Given the description of an element on the screen output the (x, y) to click on. 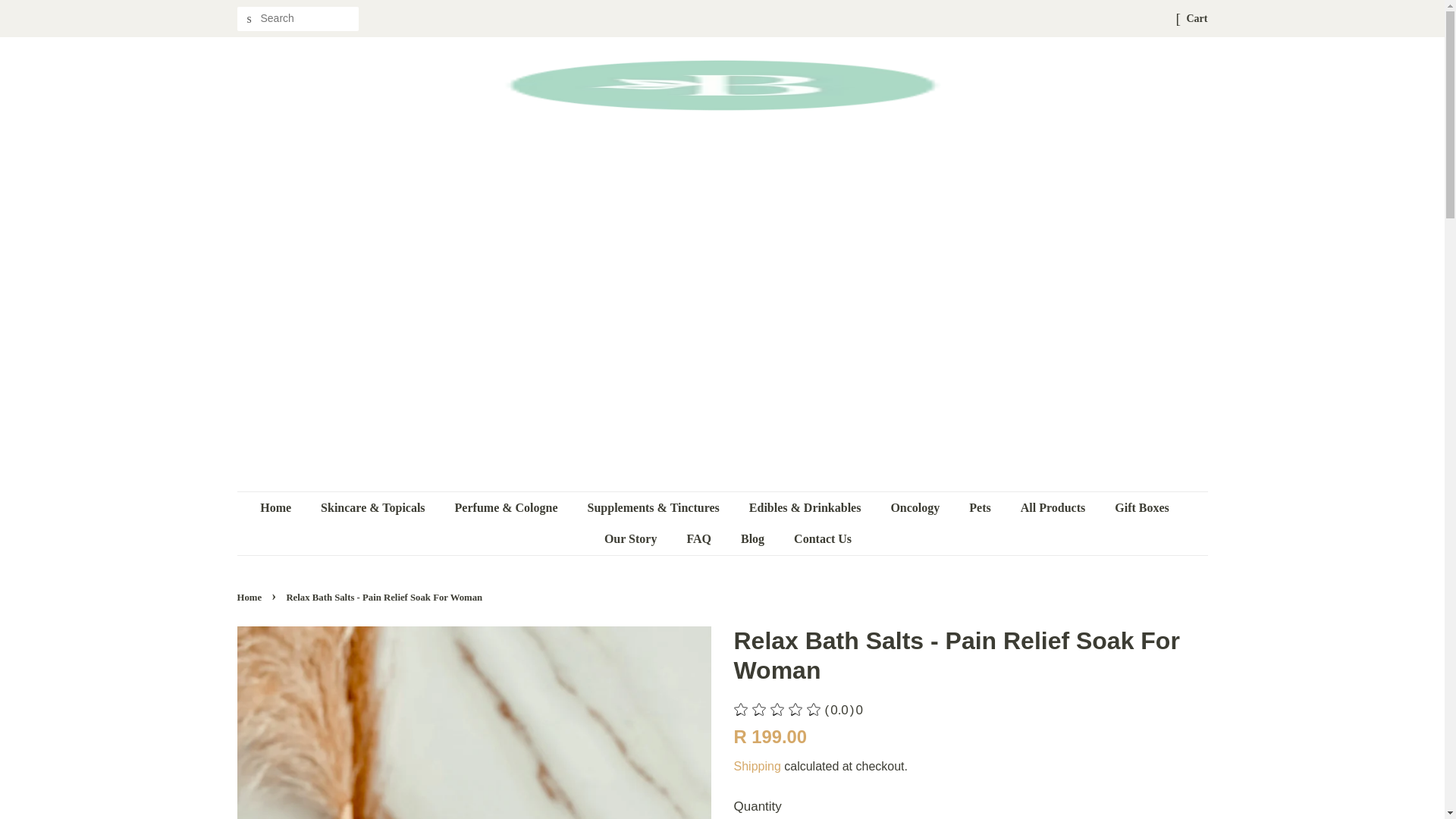
Gift Boxes (1144, 507)
Search (247, 18)
Oncology (917, 507)
Pets (982, 507)
Home (282, 507)
Home (249, 597)
